Given the description of an element on the screen output the (x, y) to click on. 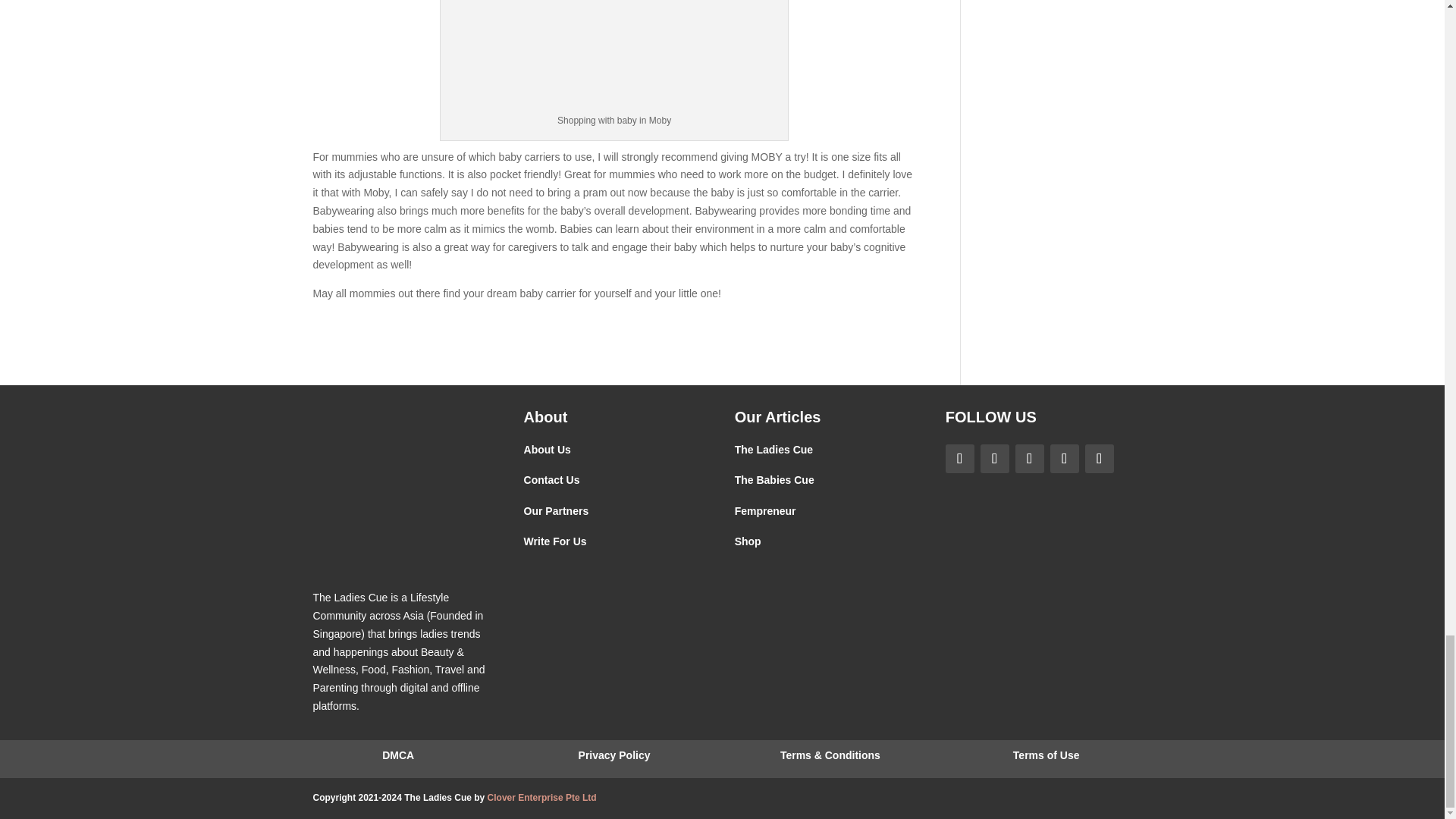
Follow on X (1063, 458)
Follow on Pinterest (1028, 458)
Shop (748, 541)
The Ladies Cue (773, 449)
Fempreneur (765, 510)
Write For Us (555, 541)
About Us (547, 449)
Contact Us (551, 480)
Follow on Instagram (994, 458)
Our Partners (556, 510)
